Given the description of an element on the screen output the (x, y) to click on. 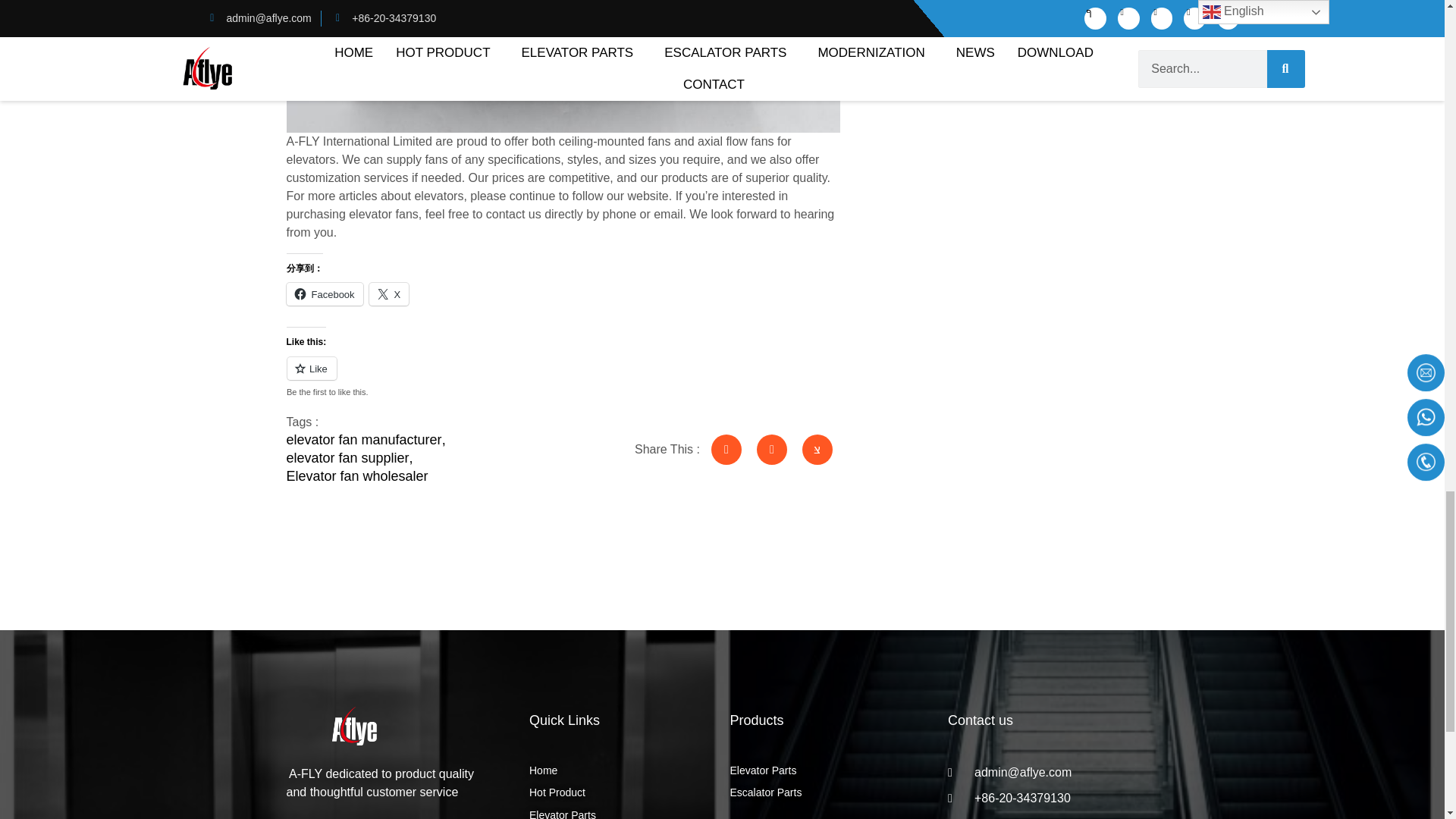
Like or Reblog (563, 377)
Click to share on Facebook (324, 293)
Click to share on X (389, 293)
